Given the description of an element on the screen output the (x, y) to click on. 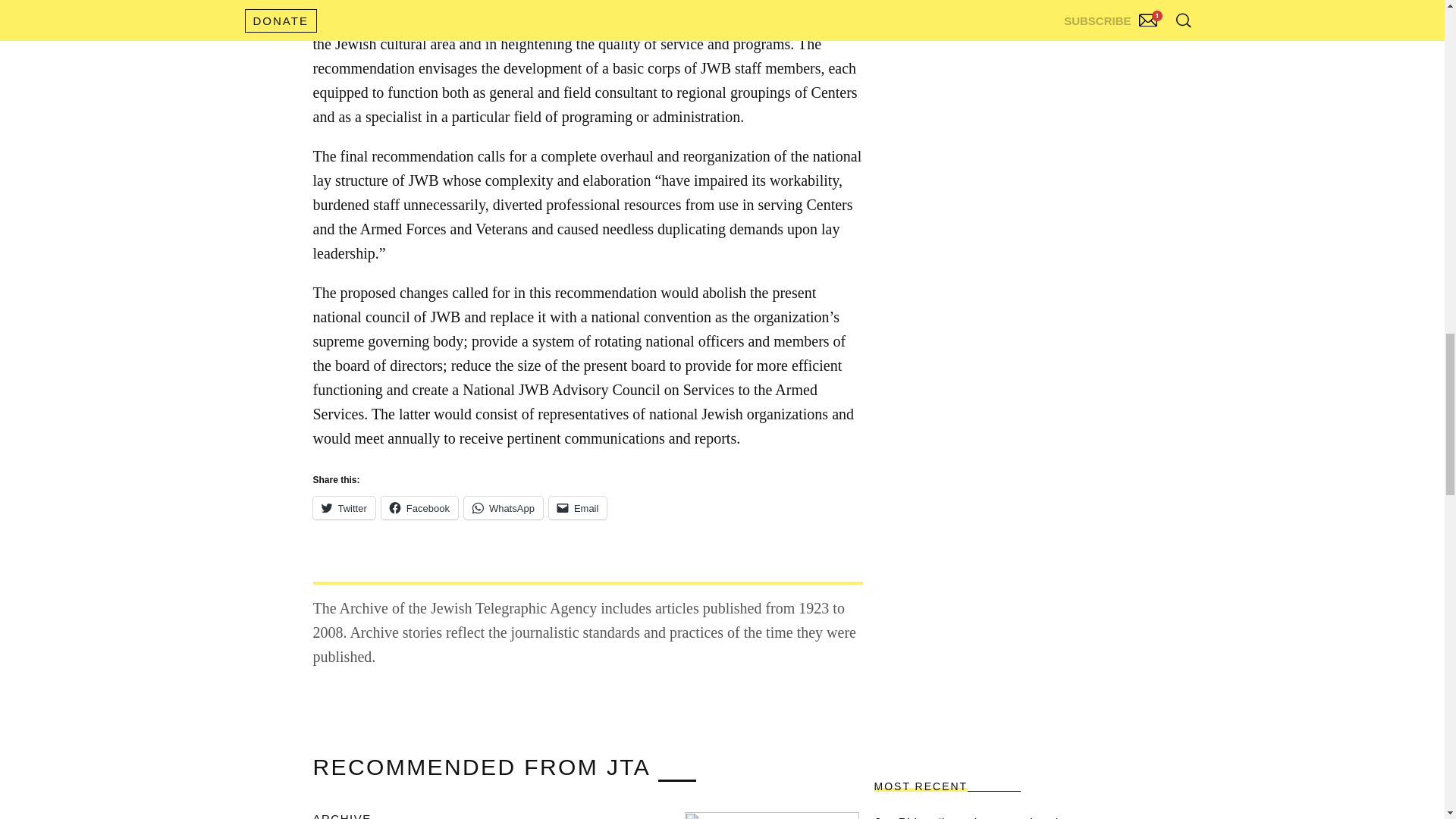
Click to email a link to a friend (577, 507)
Click to share on Facebook (419, 507)
Click to share on Twitter (343, 507)
Click to share on WhatsApp (503, 507)
